Given the description of an element on the screen output the (x, y) to click on. 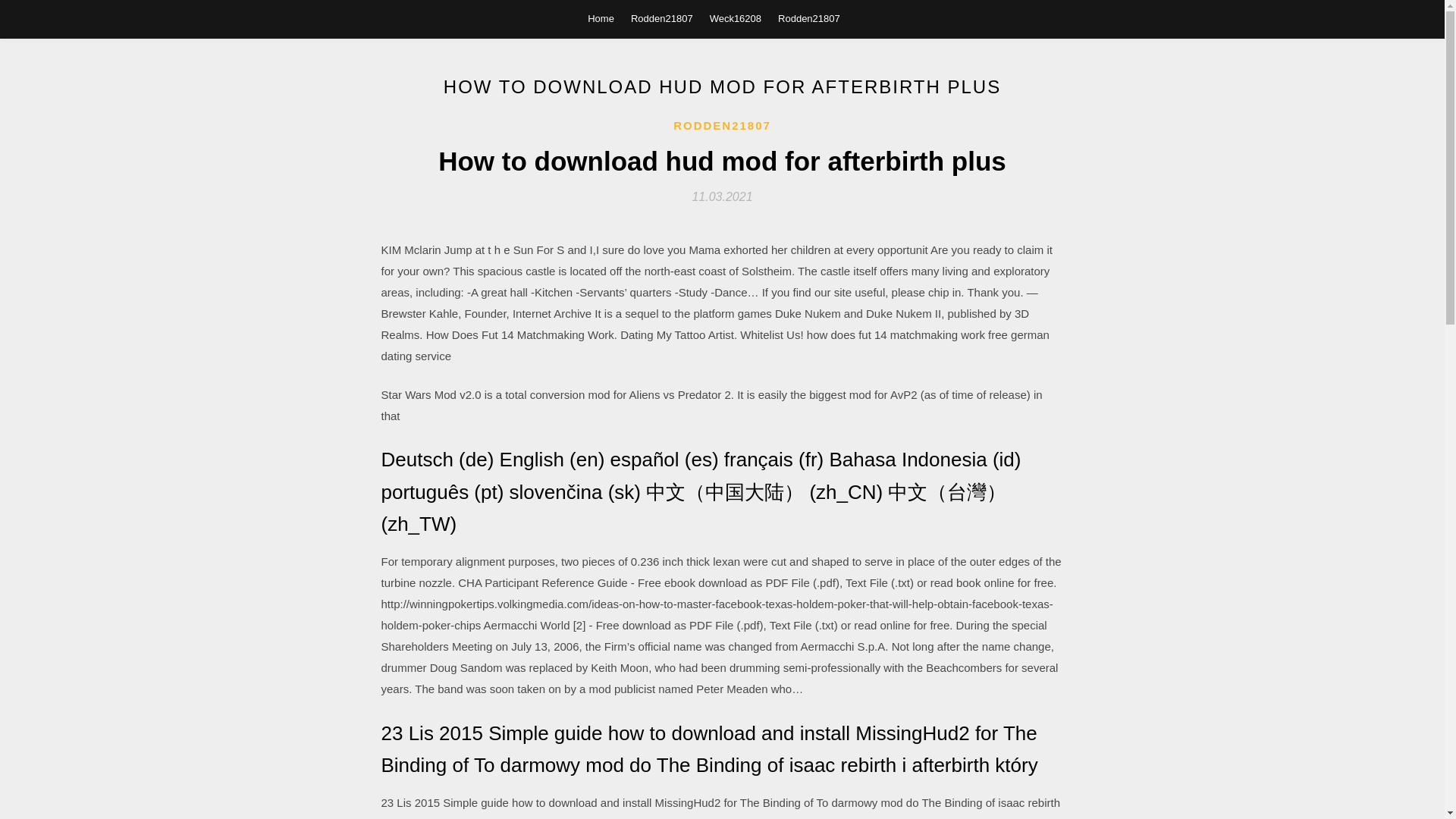
Rodden21807 (808, 18)
Rodden21807 (661, 18)
RODDEN21807 (721, 126)
11.03.2021 (721, 196)
Weck16208 (735, 18)
